Given the description of an element on the screen output the (x, y) to click on. 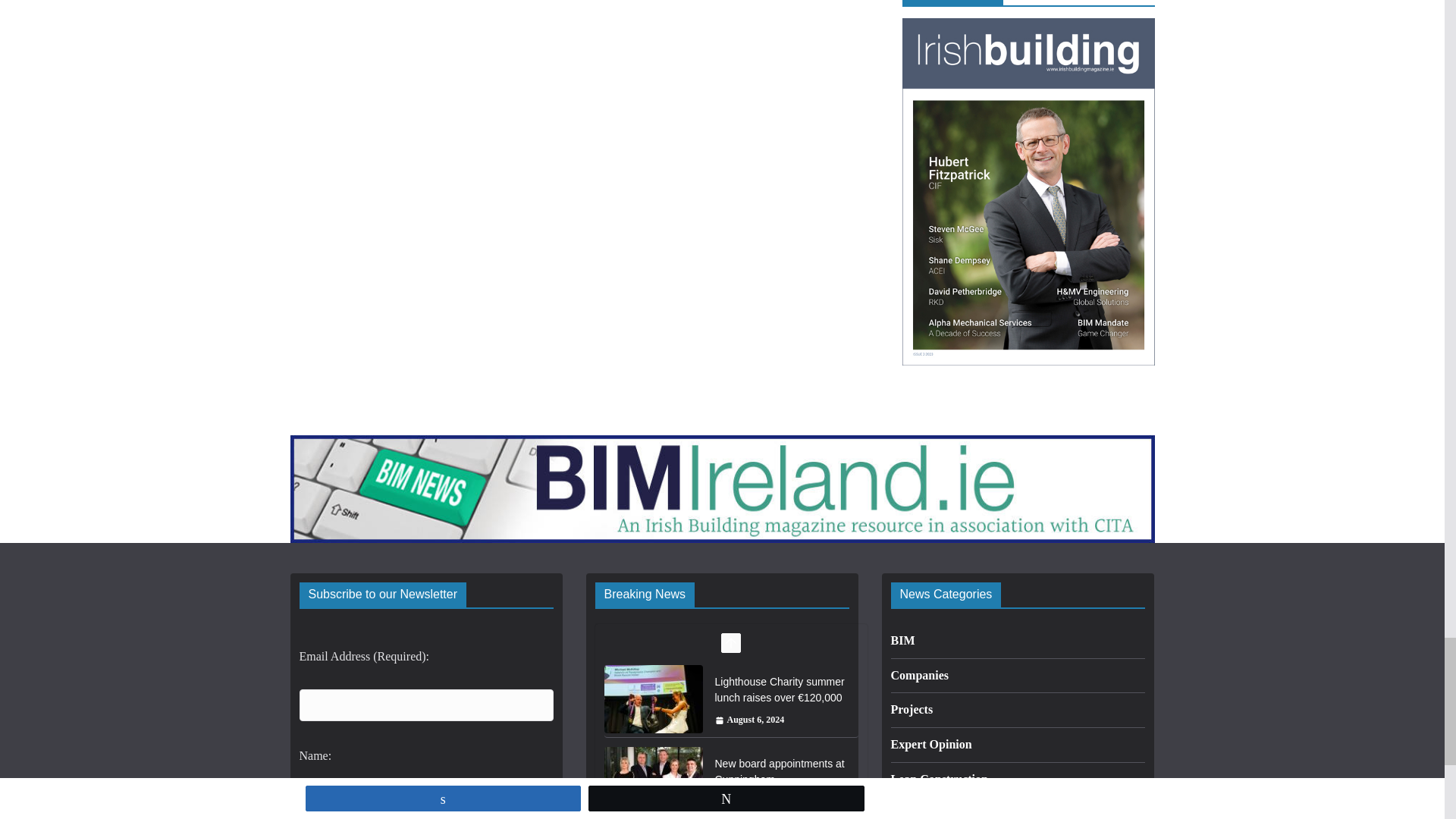
New board appointments at Cunningham (779, 771)
11:23 am (749, 719)
9:17 am (749, 801)
New board appointments at Cunningham (652, 780)
